Given the description of an element on the screen output the (x, y) to click on. 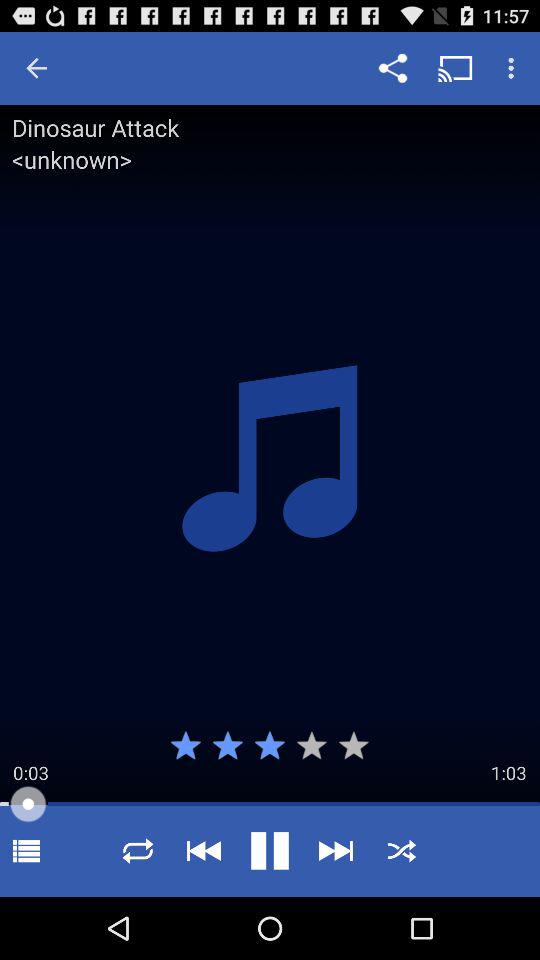
shuffle (137, 850)
